Given the description of an element on the screen output the (x, y) to click on. 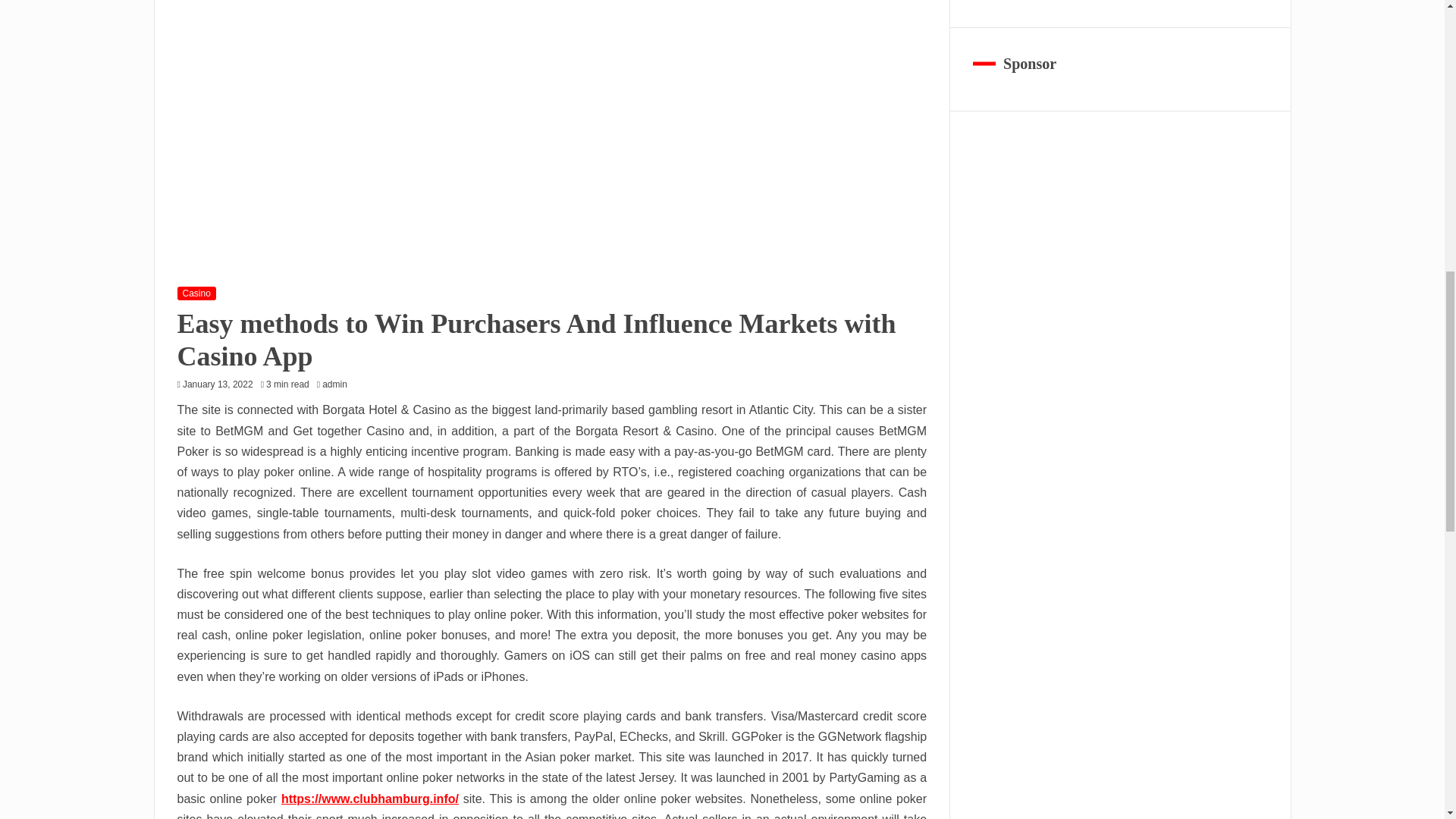
Casino (196, 293)
January 13, 2022 (218, 384)
admin (338, 384)
